Given the description of an element on the screen output the (x, y) to click on. 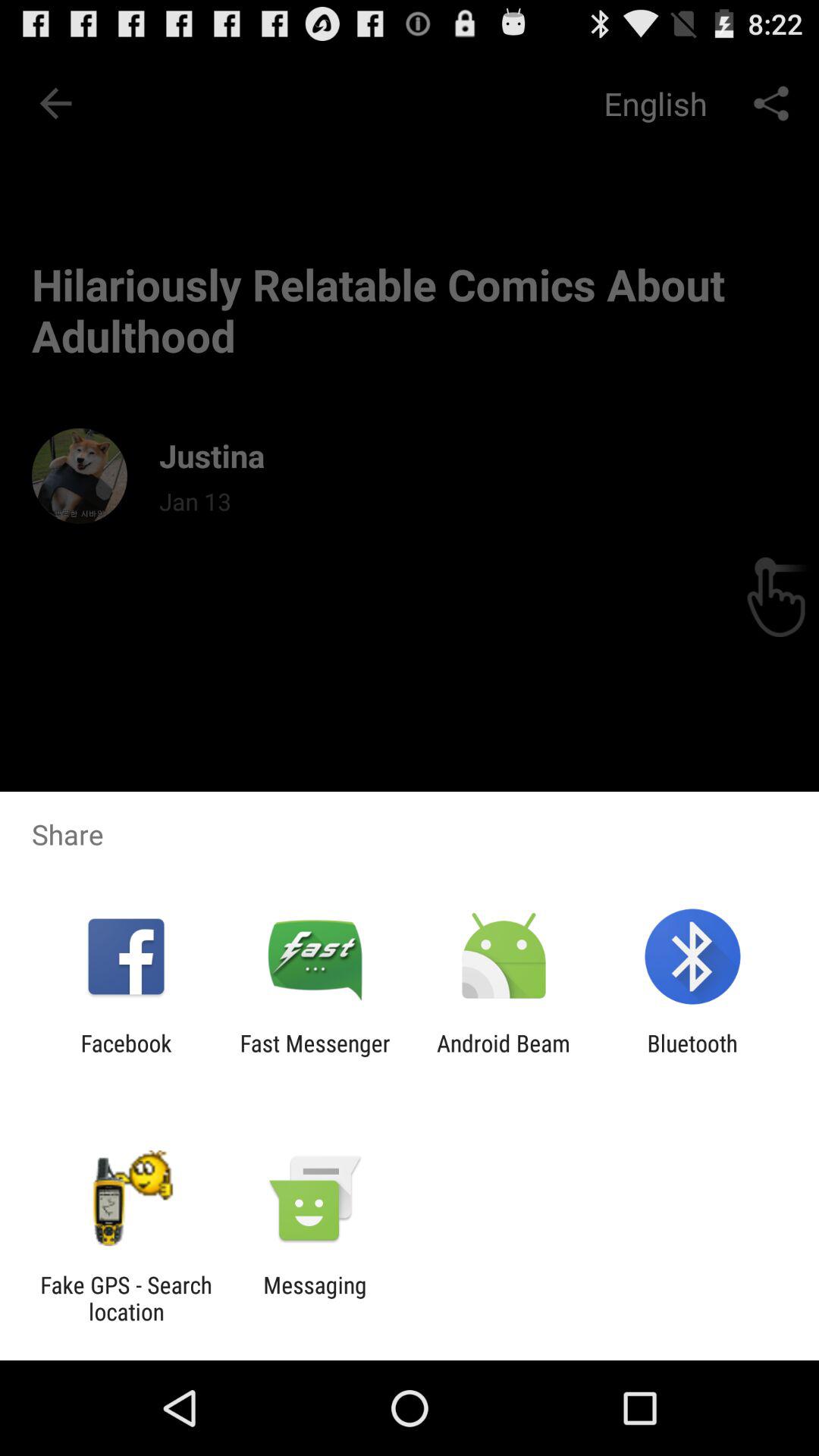
turn off app to the left of the messaging icon (125, 1298)
